Given the description of an element on the screen output the (x, y) to click on. 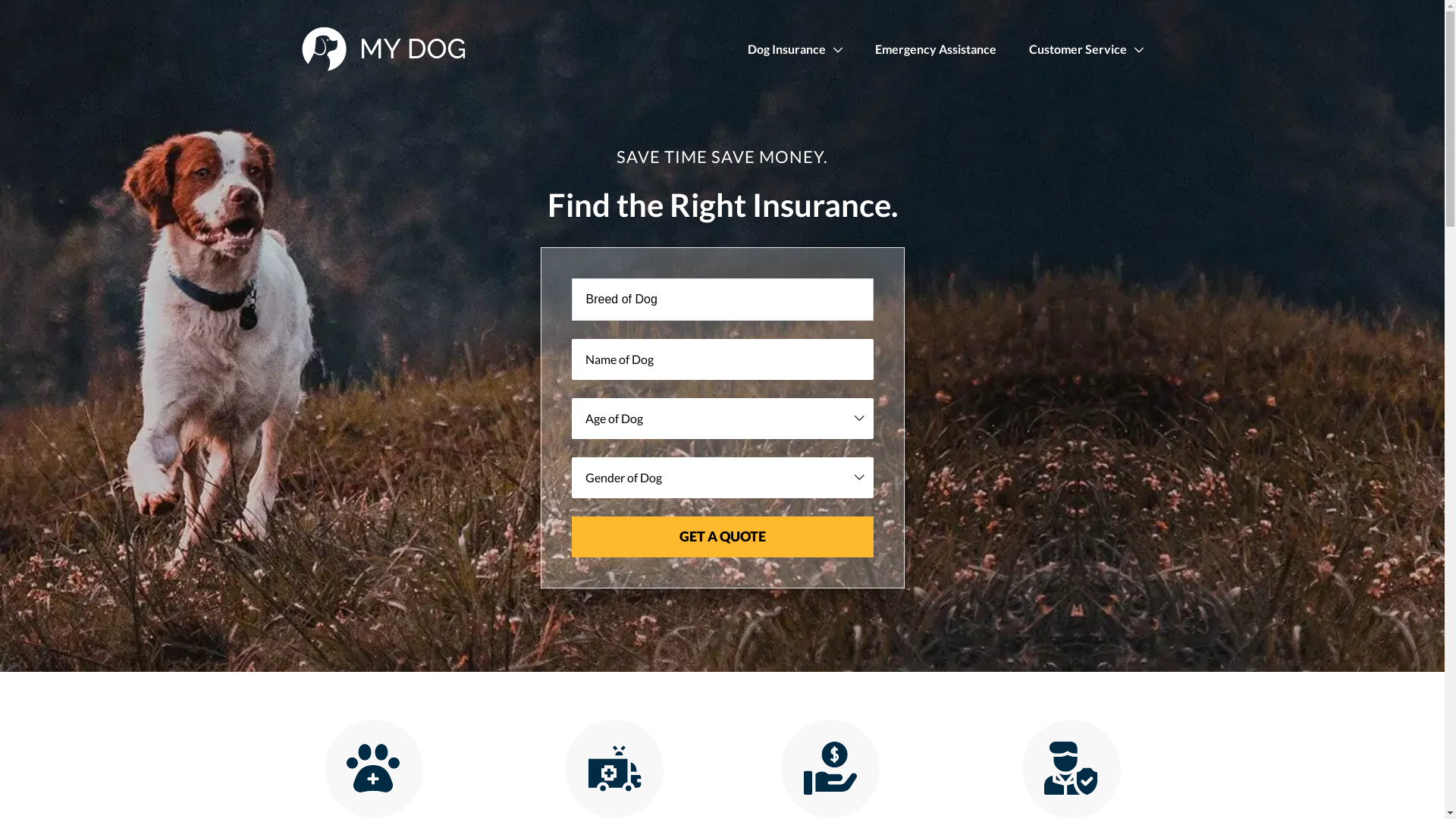
Emergency Assistance Element type: text (935, 48)
get a quote Element type: text (722, 536)
